Given the description of an element on the screen output the (x, y) to click on. 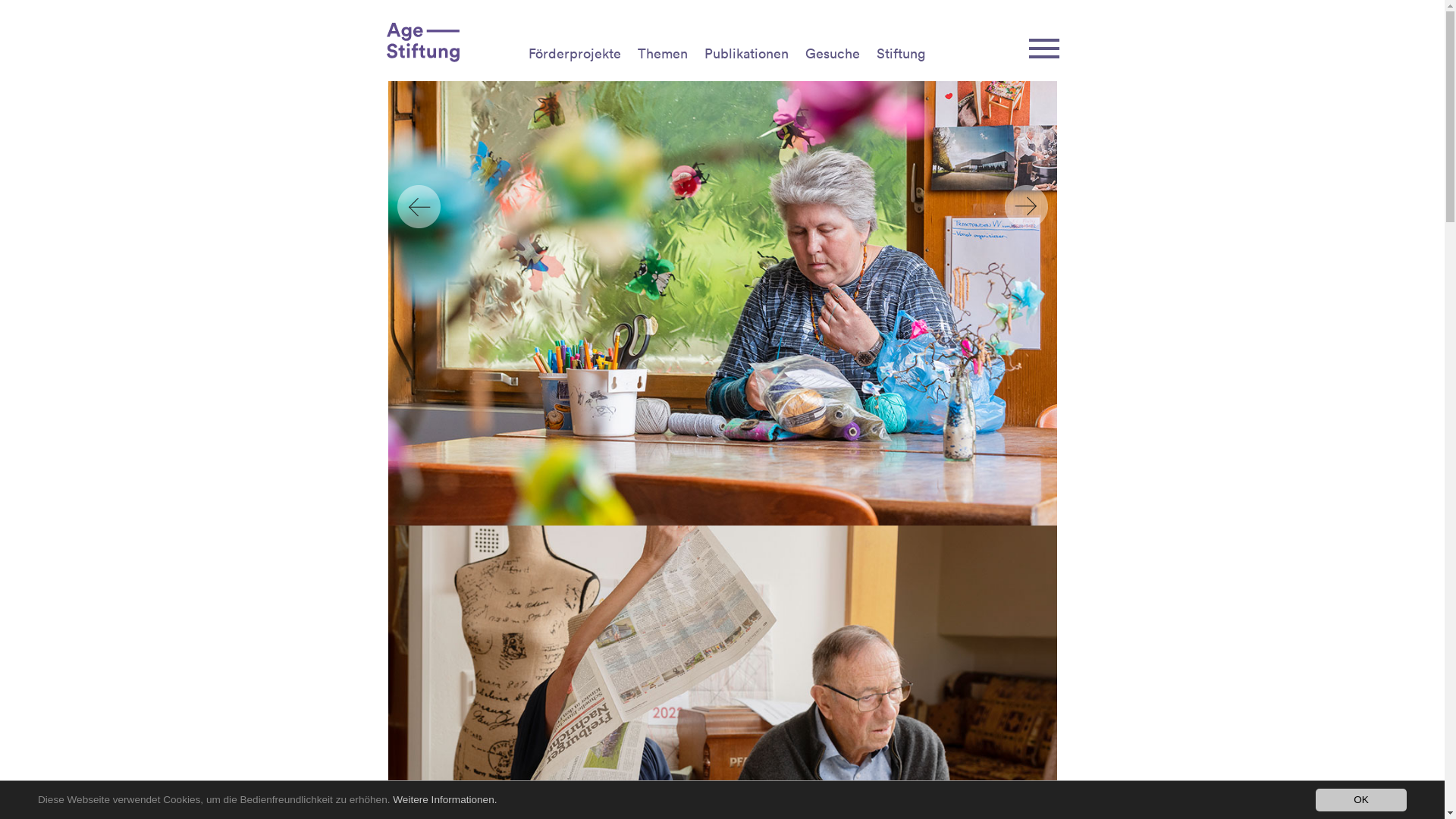
Themen Element type: text (662, 53)
Gesuche Element type: text (832, 53)
Stiftung Element type: text (900, 53)
OK Element type: text (1360, 799)
Weitere Informationen. Element type: text (444, 799)
Publikationen Element type: text (745, 53)
